Given the description of an element on the screen output the (x, y) to click on. 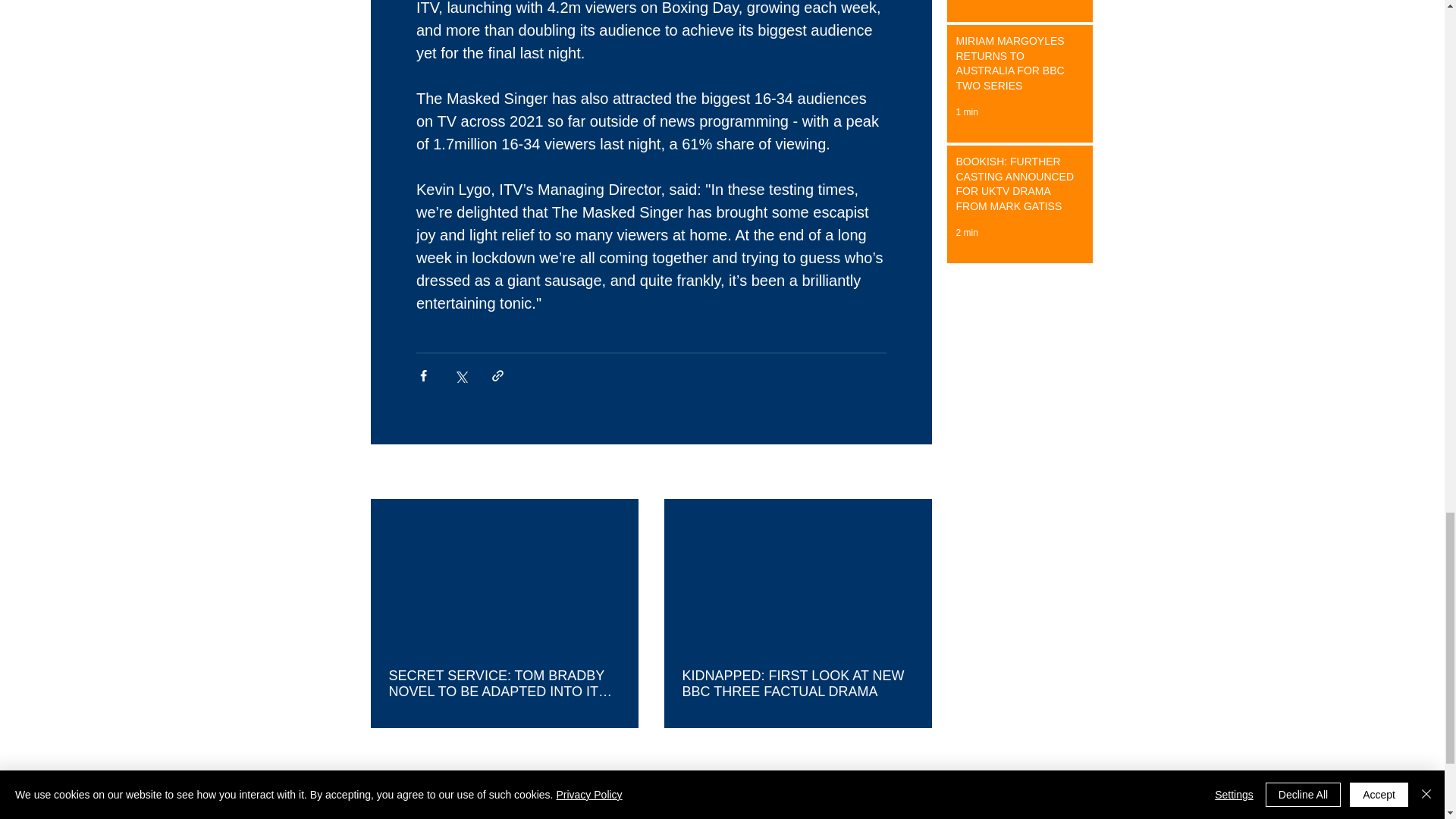
See All (914, 472)
KIDNAPPED: FIRST LOOK AT NEW BBC THREE FACTUAL DRAMA (798, 683)
1 min (965, 112)
2 min (965, 232)
